Given the description of an element on the screen output the (x, y) to click on. 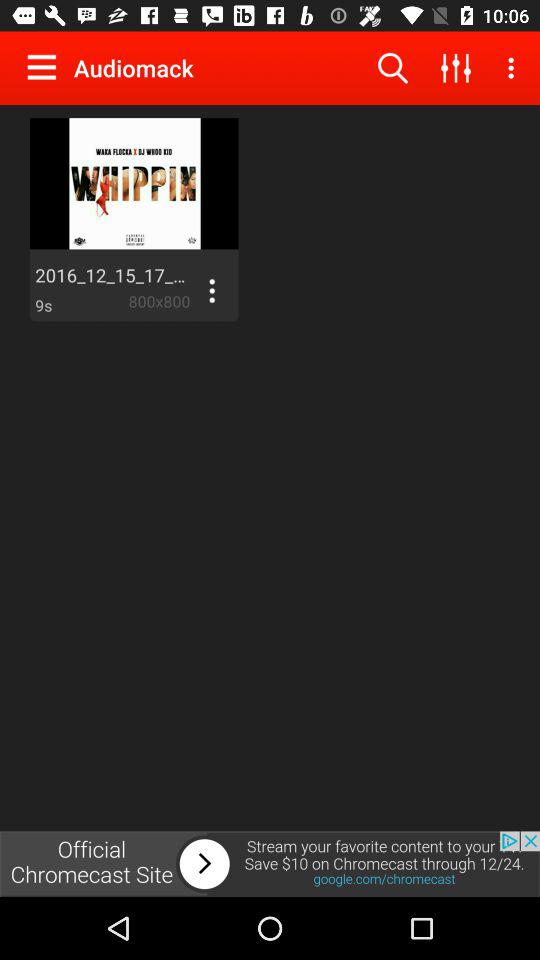
more options for this file (211, 291)
